Given the description of an element on the screen output the (x, y) to click on. 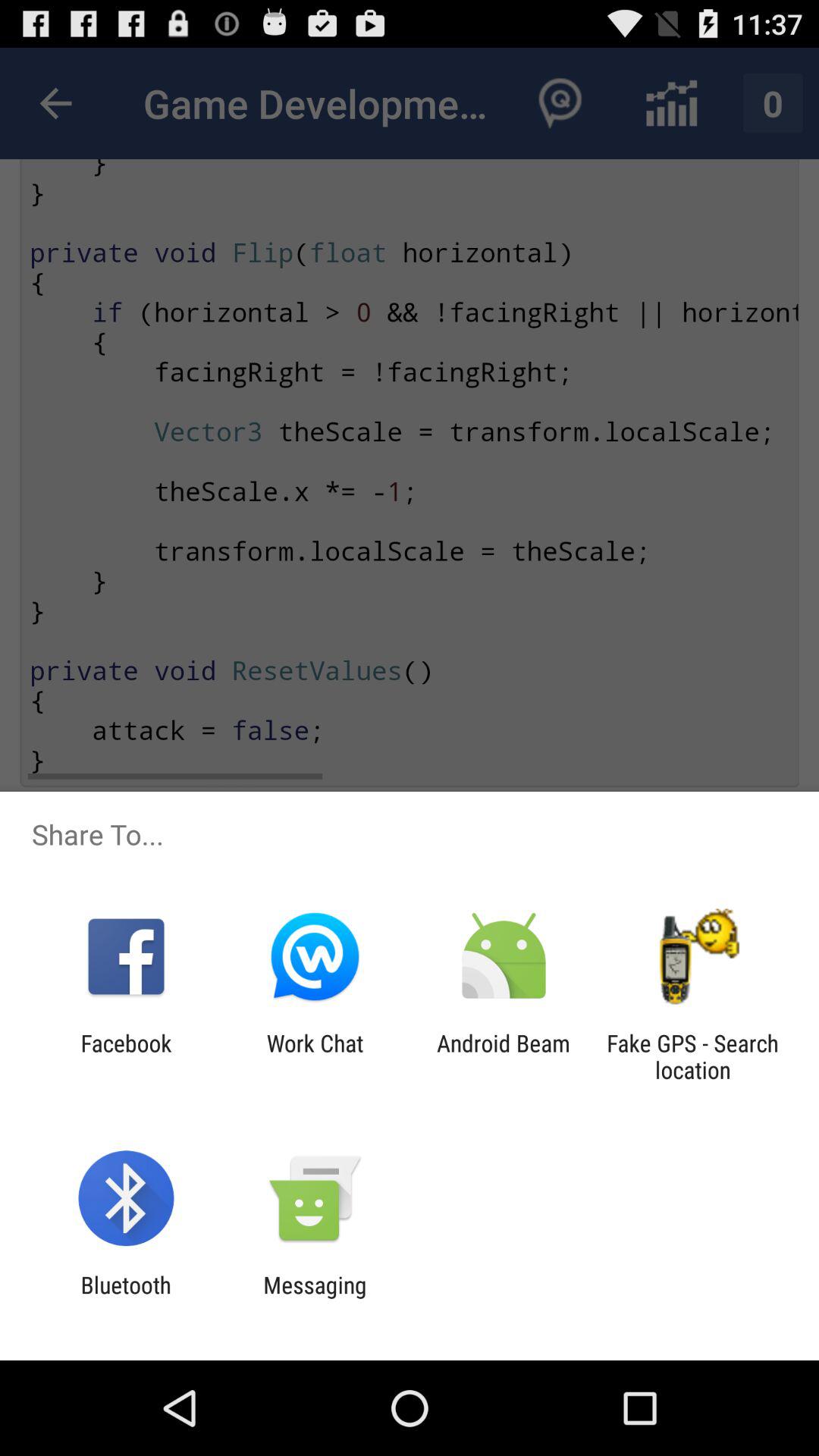
tap icon to the left of messaging app (125, 1298)
